Given the description of an element on the screen output the (x, y) to click on. 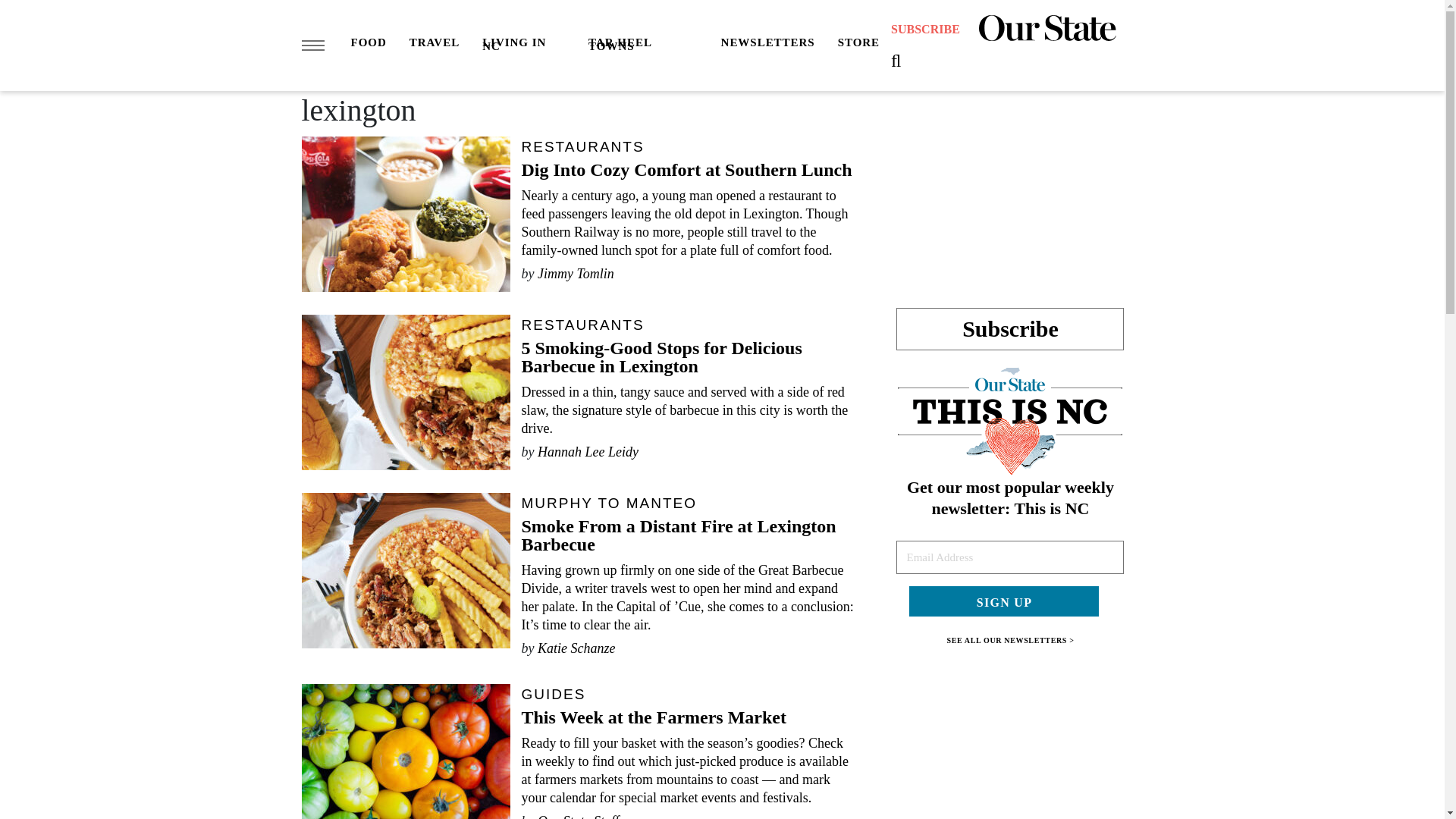
Travel (434, 43)
LIVING IN NC (523, 45)
NEWSLETTERS (767, 43)
FOOD (367, 43)
Food (367, 43)
TAR HEEL TOWNS (642, 45)
STORE (858, 43)
RESTAURANTS (583, 146)
Living in NC (523, 45)
TRAVEL (434, 43)
Sign Up (1003, 601)
SUBSCRIBE (925, 30)
